Given the description of an element on the screen output the (x, y) to click on. 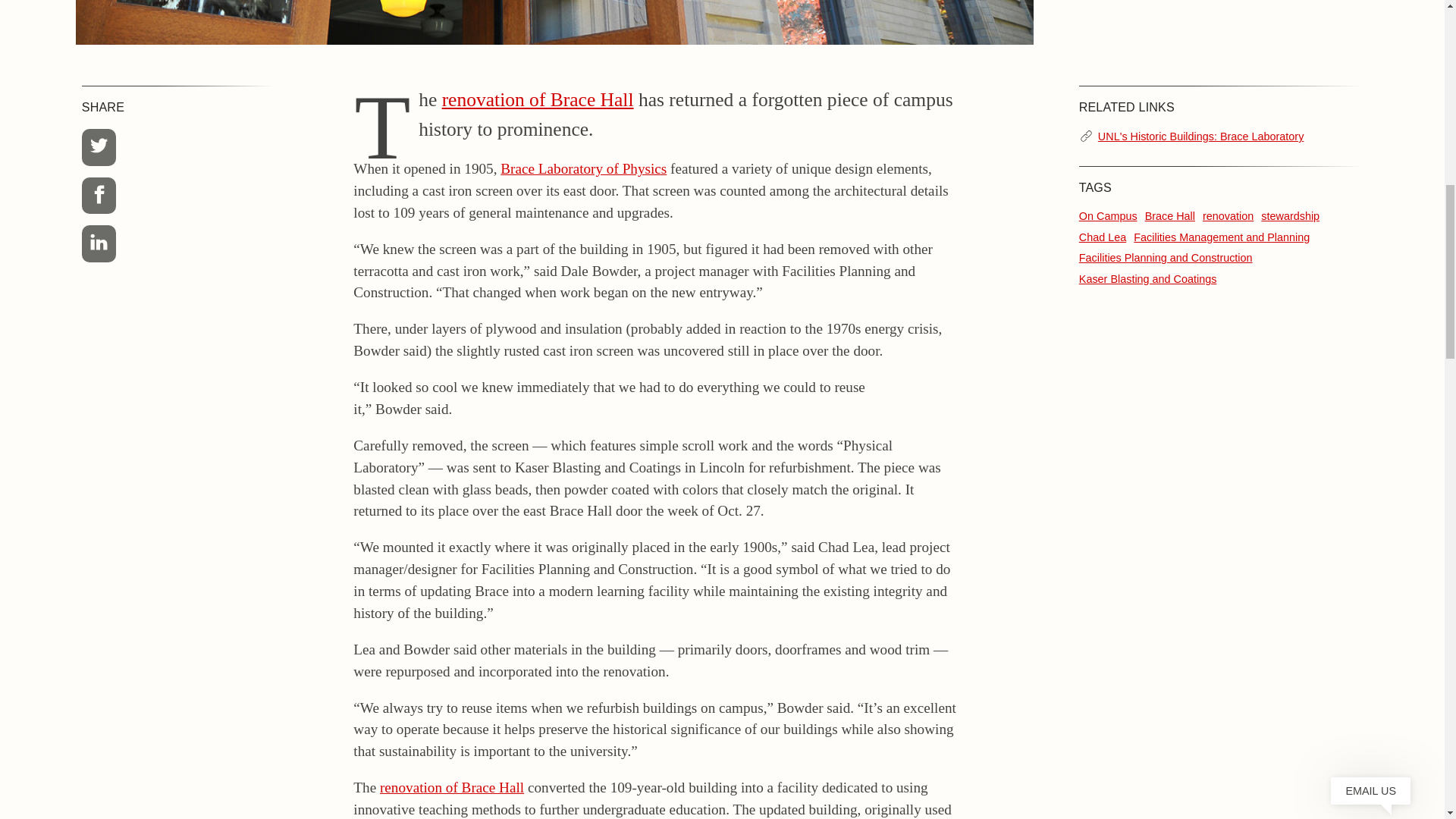
UNL's Historic Buildings: Brace Laboratory (1200, 136)
renovation of Brace Hall (452, 787)
stewardship (1289, 215)
On Campus (1107, 215)
Facilities Planning and Construction (1165, 257)
Kaser Blasting and Coatings (1147, 278)
Brace Hall (1169, 215)
renovation of Brace Hall (537, 99)
Facilities Management and Planning (1221, 236)
Brace Laboratory of Physics (583, 168)
Chad Lea (1101, 236)
renovation (1227, 215)
